Given the description of an element on the screen output the (x, y) to click on. 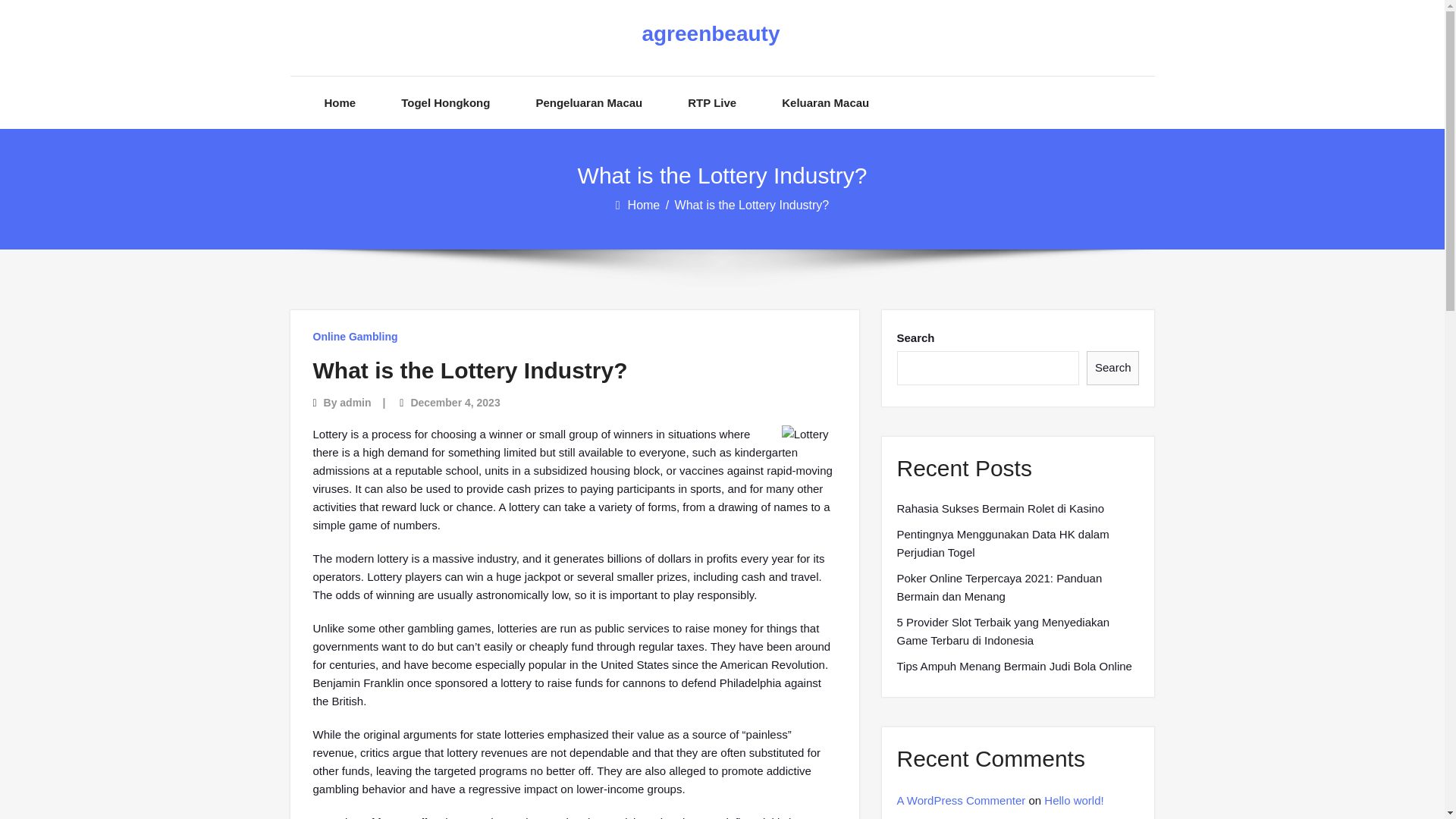
RTP Live (711, 102)
Keluaran Macau (825, 102)
Tips Ampuh Menang Bermain Judi Bola Online (1013, 666)
A WordPress Commenter (960, 799)
Togel Hongkong (445, 102)
Online Gambling (355, 336)
Home (644, 205)
December 4, 2023 (454, 402)
Pengeluaran Macau (588, 102)
